Given the description of an element on the screen output the (x, y) to click on. 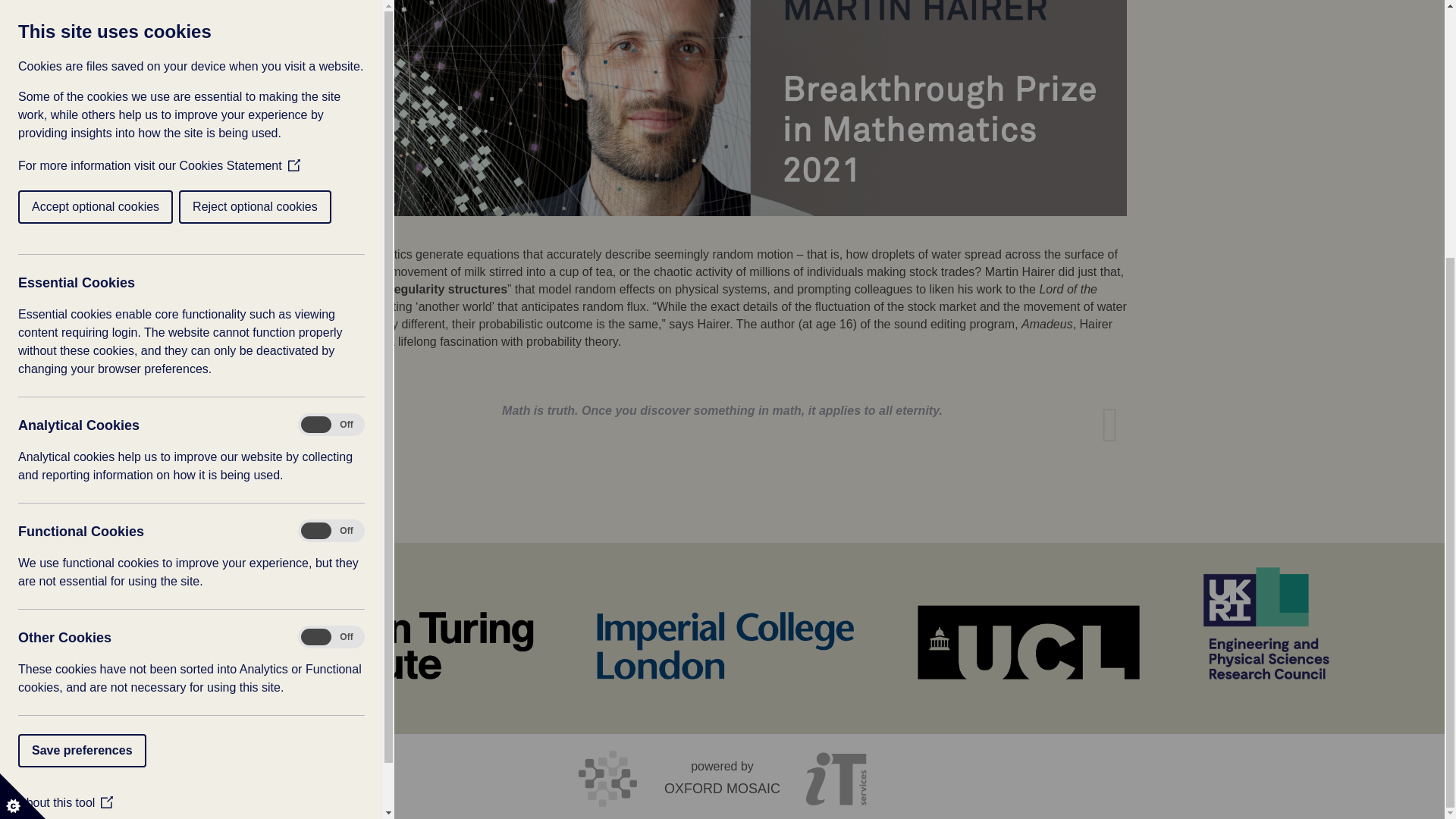
Save preferences (66, 382)
